Given the description of an element on the screen output the (x, y) to click on. 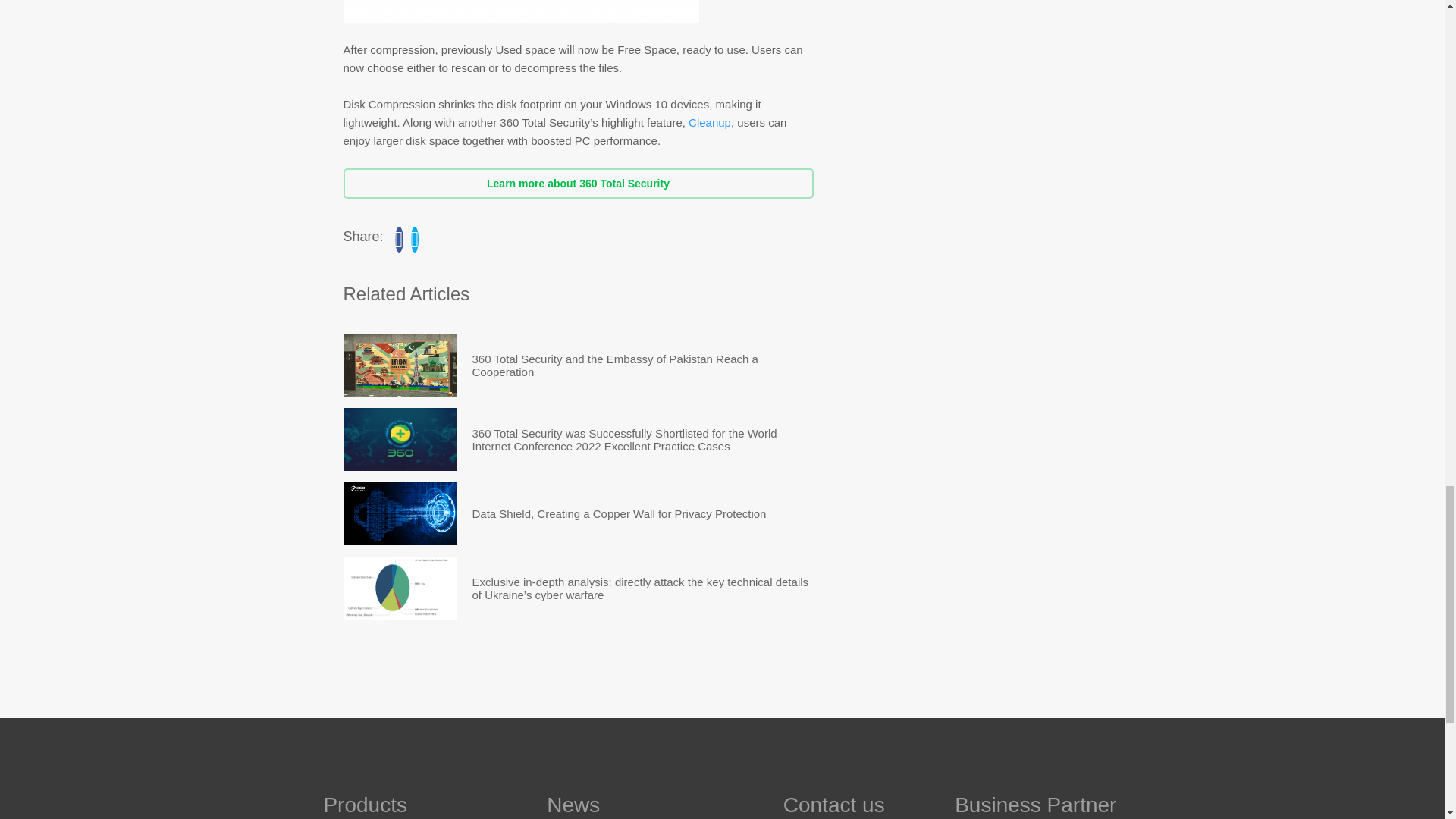
Learn more about 360 Total Security (577, 183)
Data Shield, Creating a Copper Wall for Privacy Protection (618, 513)
Data Shield, Creating a Copper Wall for Privacy Protection (399, 513)
Data Shield, Creating a Copper Wall for Privacy Protection (618, 513)
Learn more about 360 Total Security (577, 183)
Cleanup (709, 122)
